Given the description of an element on the screen output the (x, y) to click on. 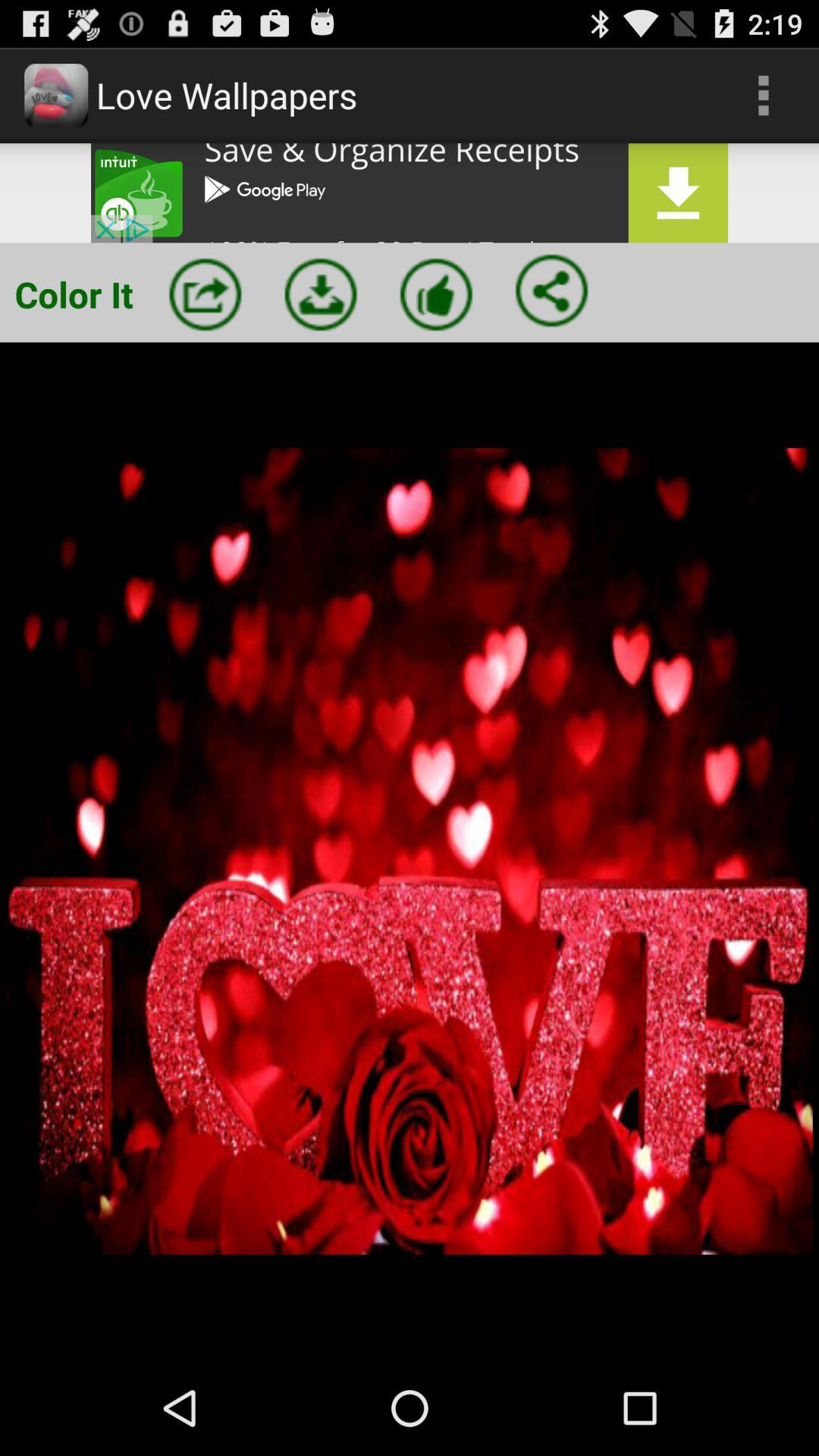
download (320, 294)
